Given the description of an element on the screen output the (x, y) to click on. 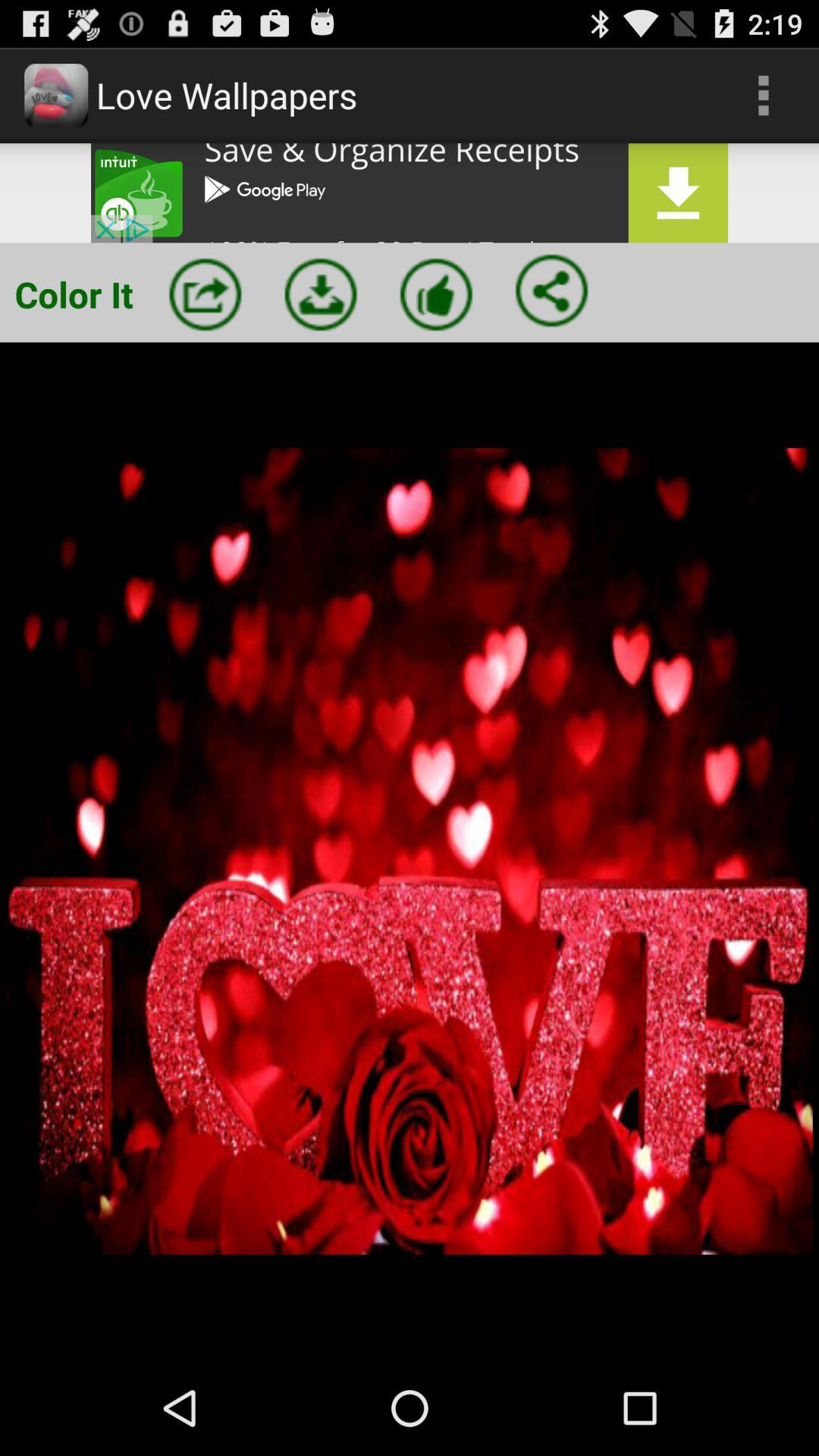
download (320, 294)
